Given the description of an element on the screen output the (x, y) to click on. 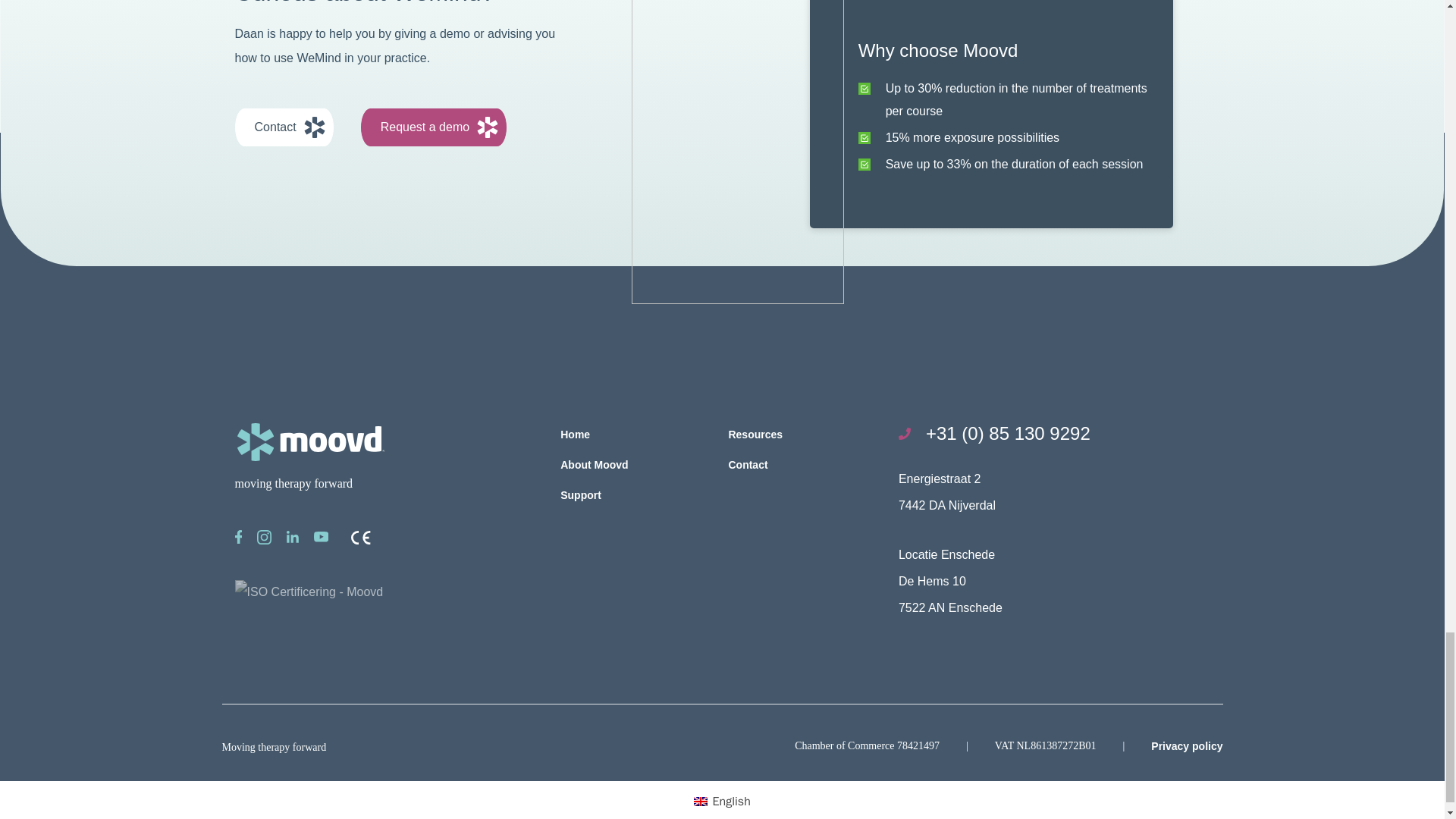
About Moovd (593, 464)
Resources (755, 434)
Request a demo (433, 127)
Support (580, 494)
Contact (283, 127)
Home (574, 434)
Contact (747, 464)
